Given the description of an element on the screen output the (x, y) to click on. 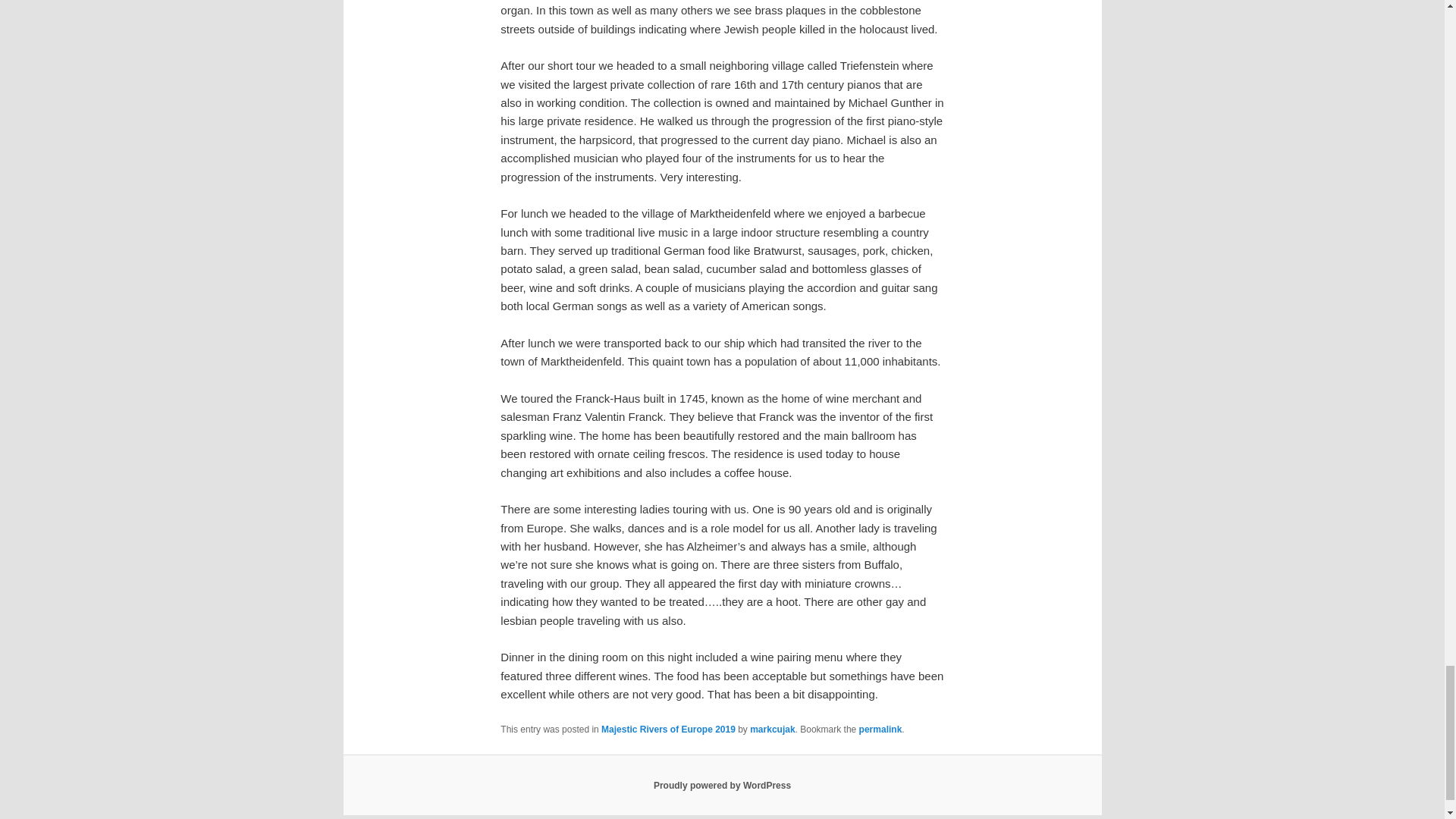
Semantic Personal Publishing Platform (721, 785)
markcujak (771, 728)
Proudly powered by WordPress (721, 785)
Majestic Rivers of Europe 2019 (668, 728)
permalink (880, 728)
